Given the description of an element on the screen output the (x, y) to click on. 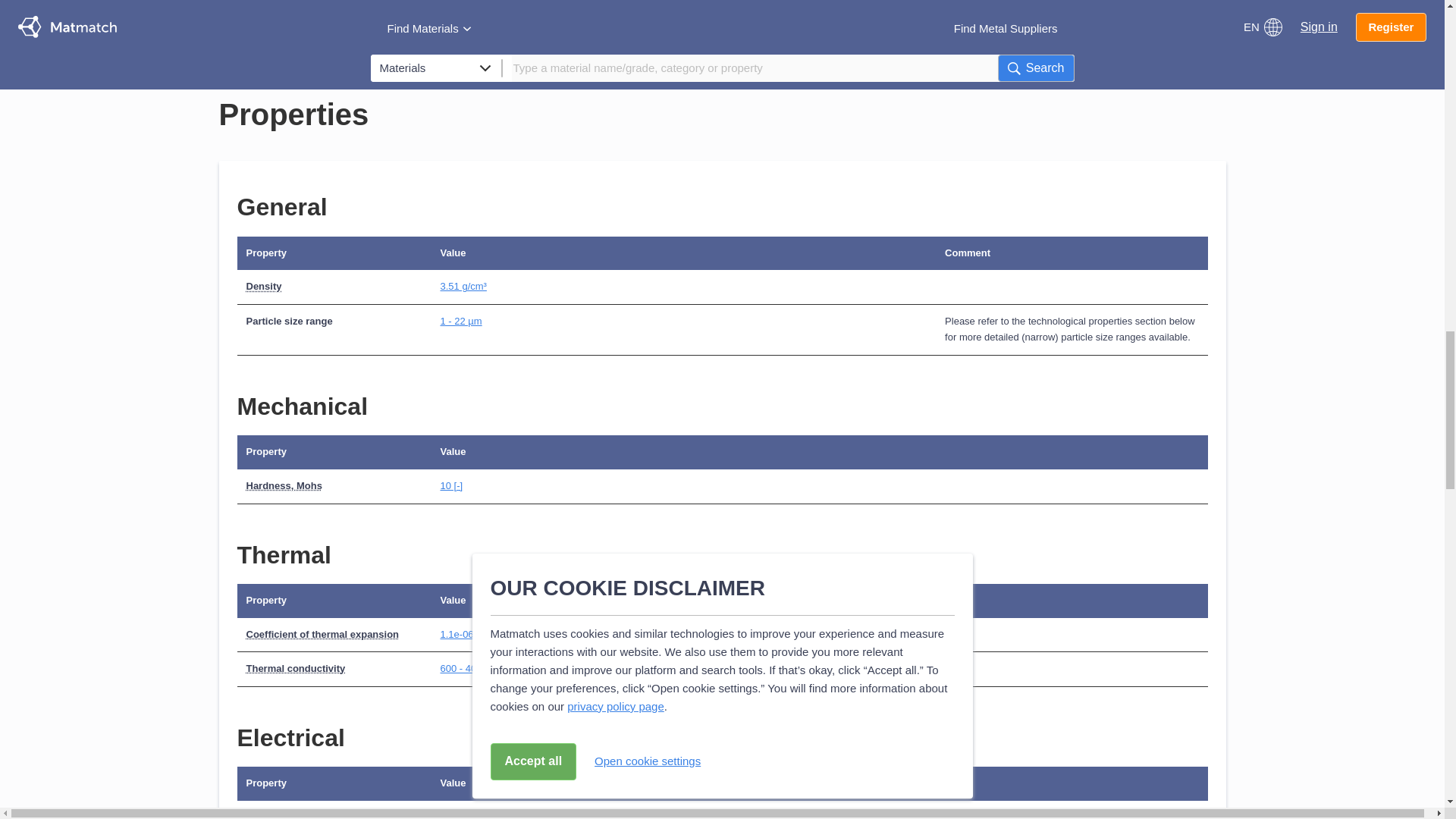
Ashby charts (512, 24)
